Given the description of an element on the screen output the (x, y) to click on. 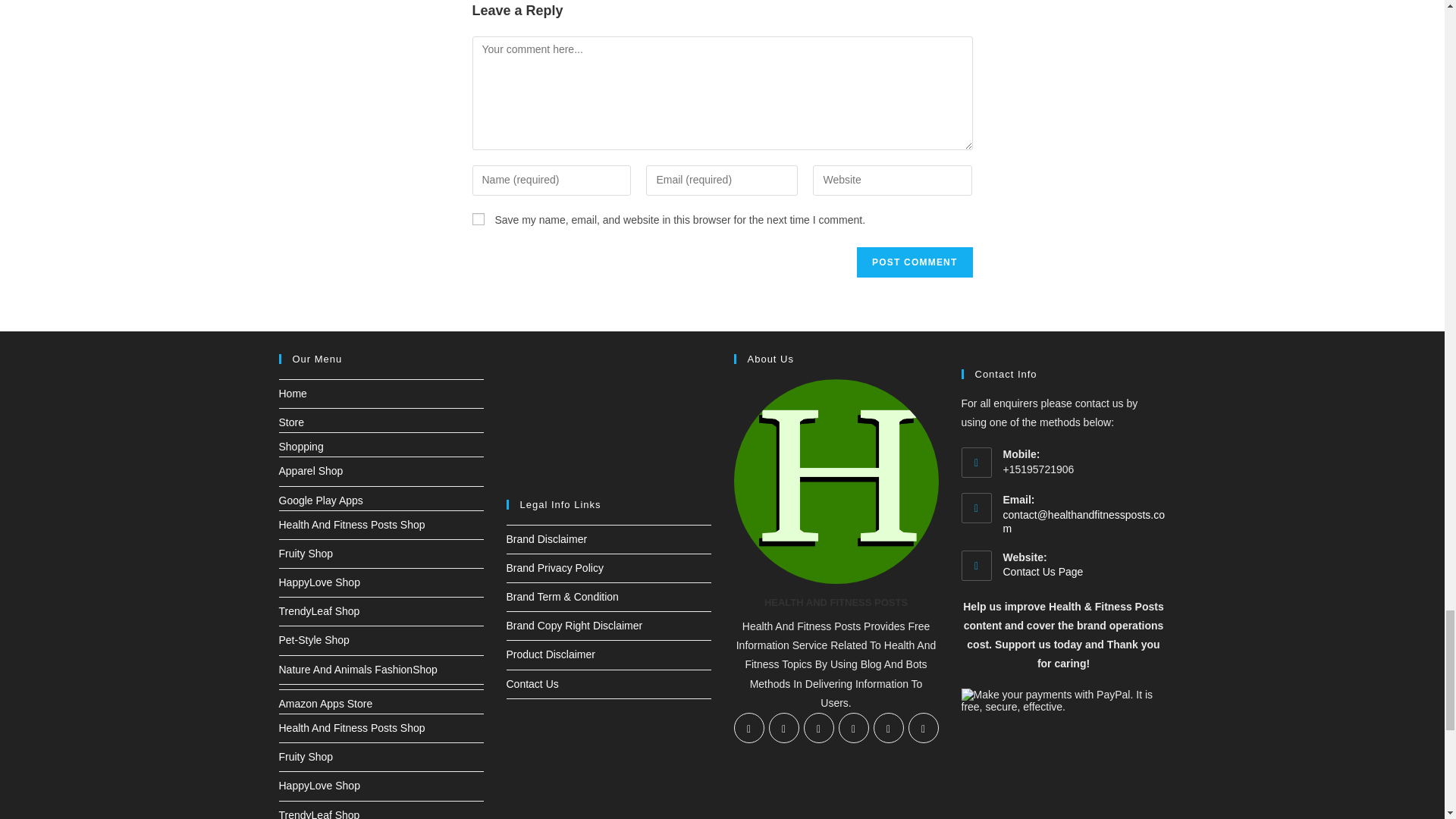
yes (477, 218)
Shopping (301, 446)
Post Comment (914, 262)
